Given the description of an element on the screen output the (x, y) to click on. 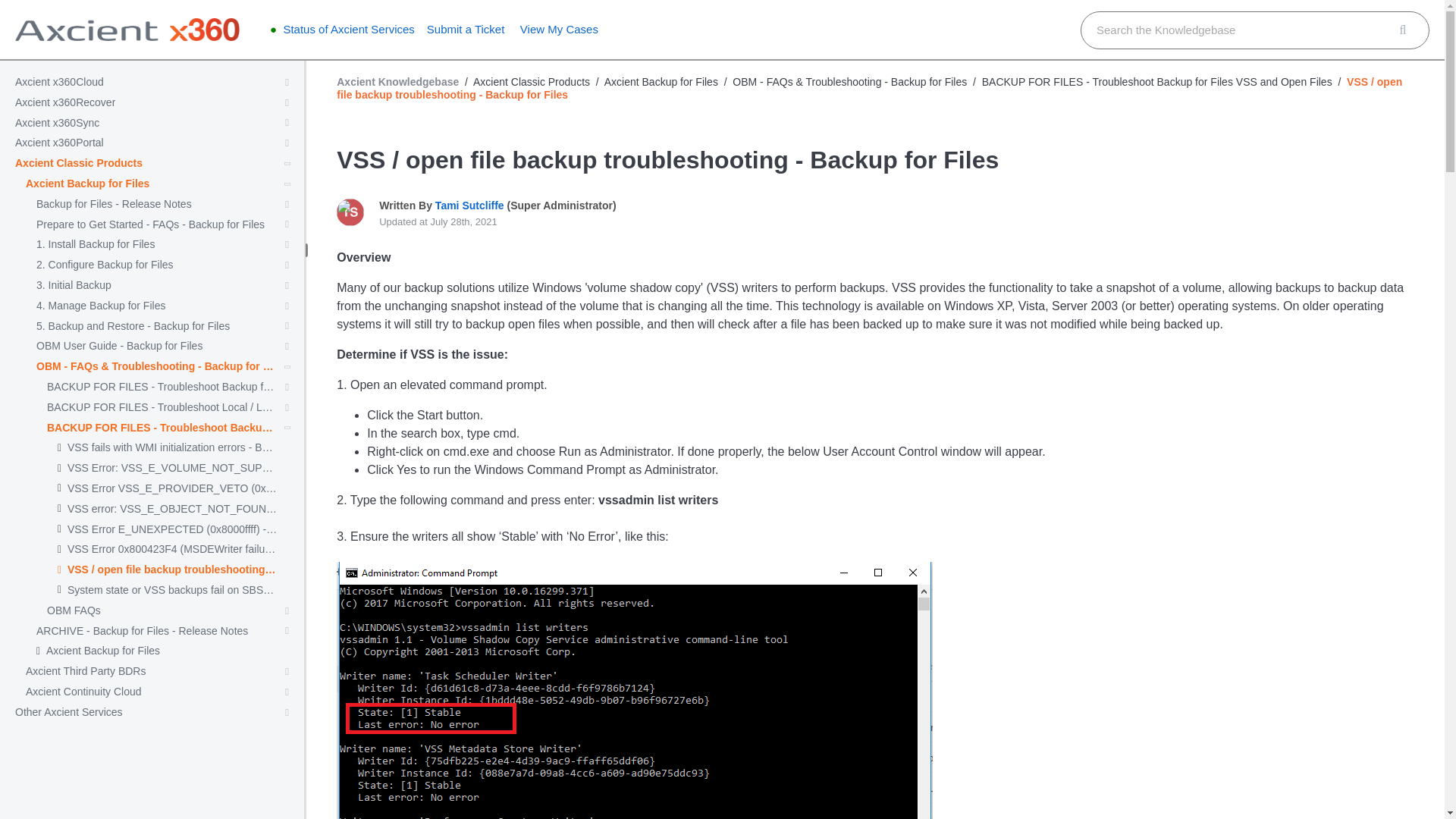
1. Install Backup for Files (95, 244)
5. Backup and Restore - Backup for Files (133, 326)
OBM User Guide - Backup for Files (119, 345)
Submit a Ticket (465, 29)
4. Manage Backup for Files (100, 305)
BACKUP FOR FILES - Troubleshoot Backup for Files (160, 386)
Axcient x360Portal (58, 142)
Axcient Backup for Files (87, 183)
3. Initial Backup (74, 285)
Axcient x360Cloud (58, 82)
Backup for Files - Release Notes (114, 204)
Axcient x360Recover (64, 102)
2. Configure Backup for Files (104, 264)
Axcient Classic Products (78, 163)
